Given the description of an element on the screen output the (x, y) to click on. 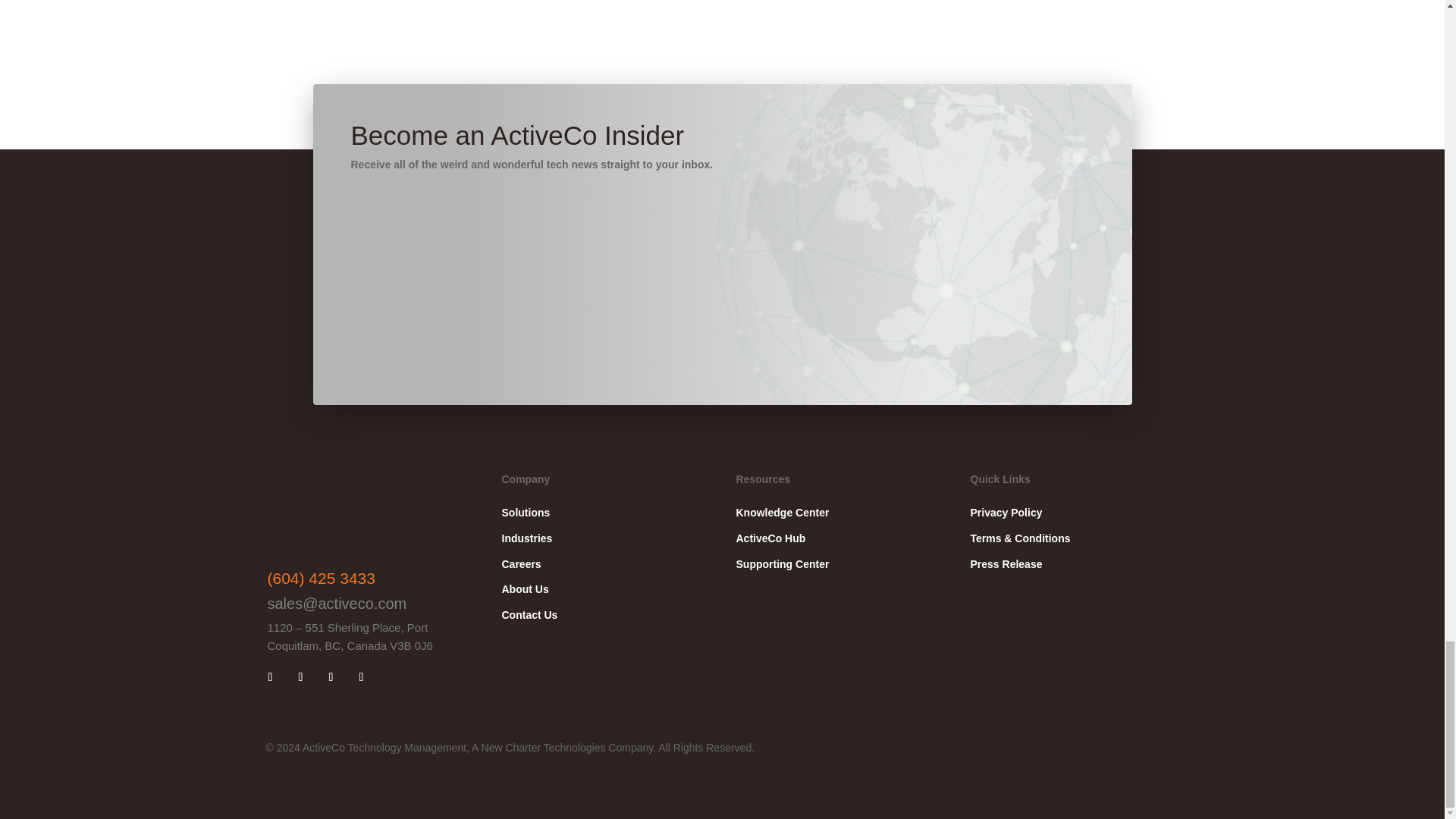
Activeco Logo White (343, 513)
Follow on LinkedIn (269, 677)
Form 0 (947, 244)
Follow on Instagram (330, 677)
Follow on Twitter (360, 677)
Follow on Facebook (300, 677)
